Given the description of an element on the screen output the (x, y) to click on. 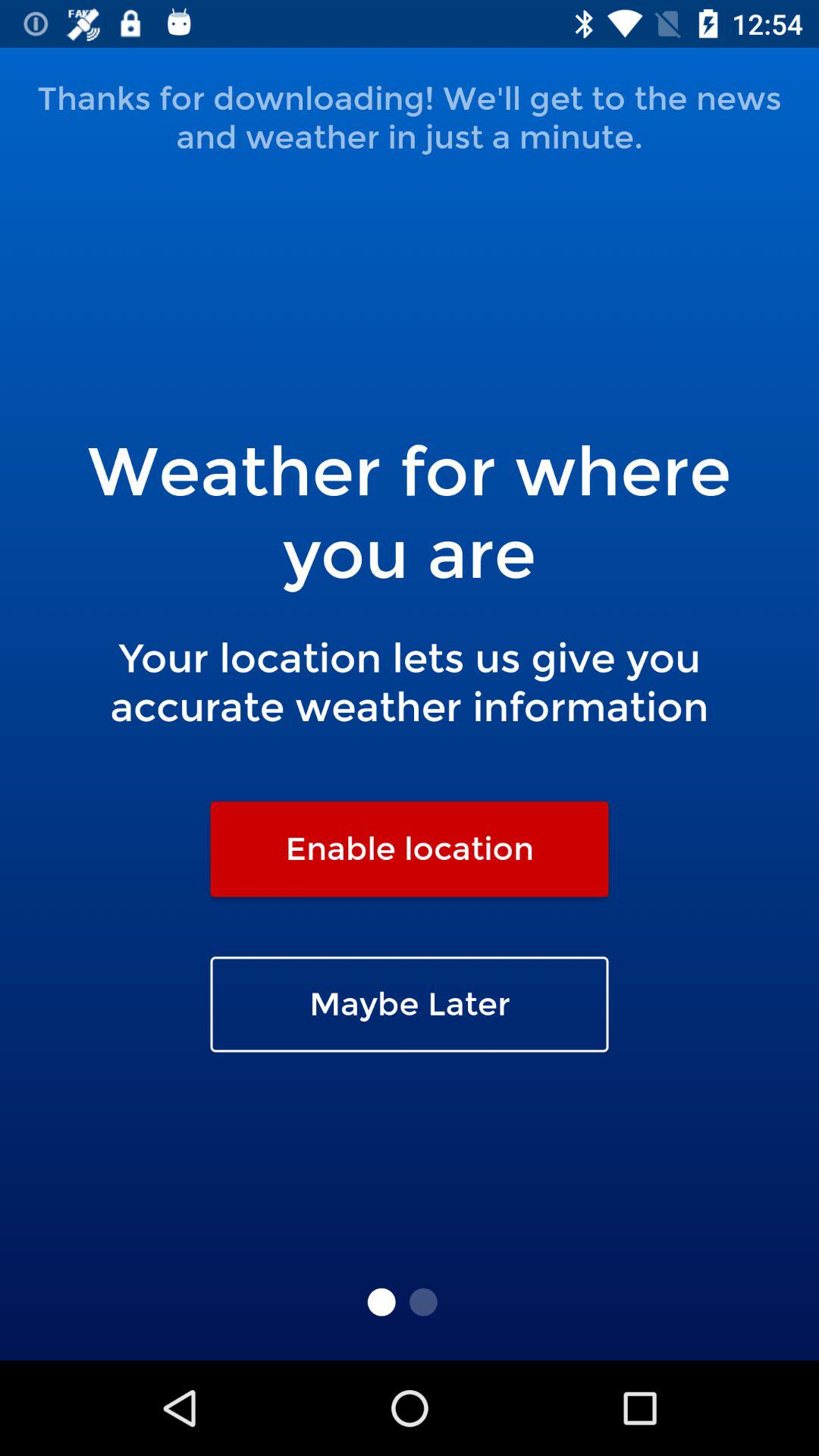
tap icon above the maybe later icon (409, 848)
